Given the description of an element on the screen output the (x, y) to click on. 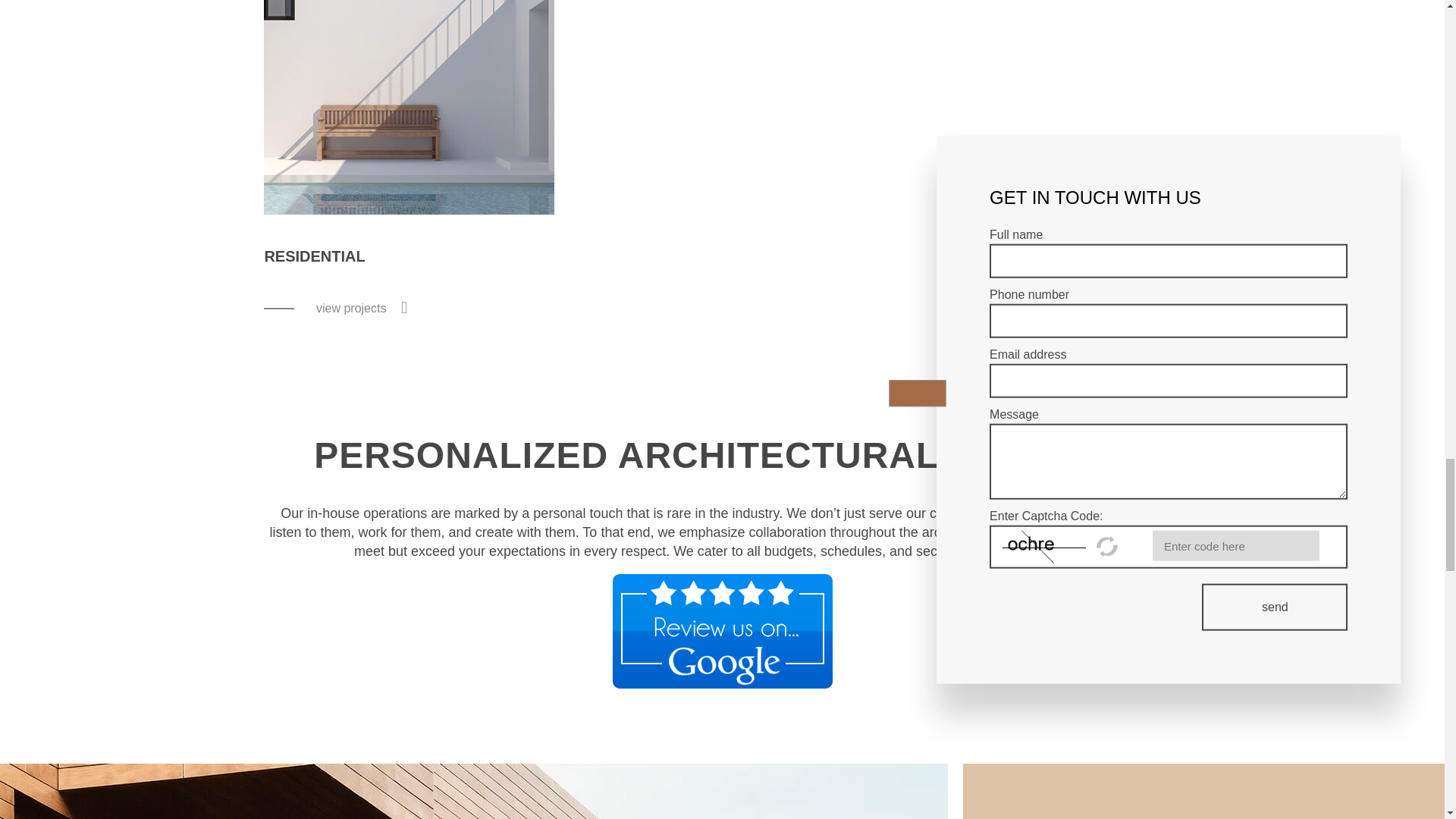
View Projects (350, 308)
Google Review (721, 630)
